Given the description of an element on the screen output the (x, y) to click on. 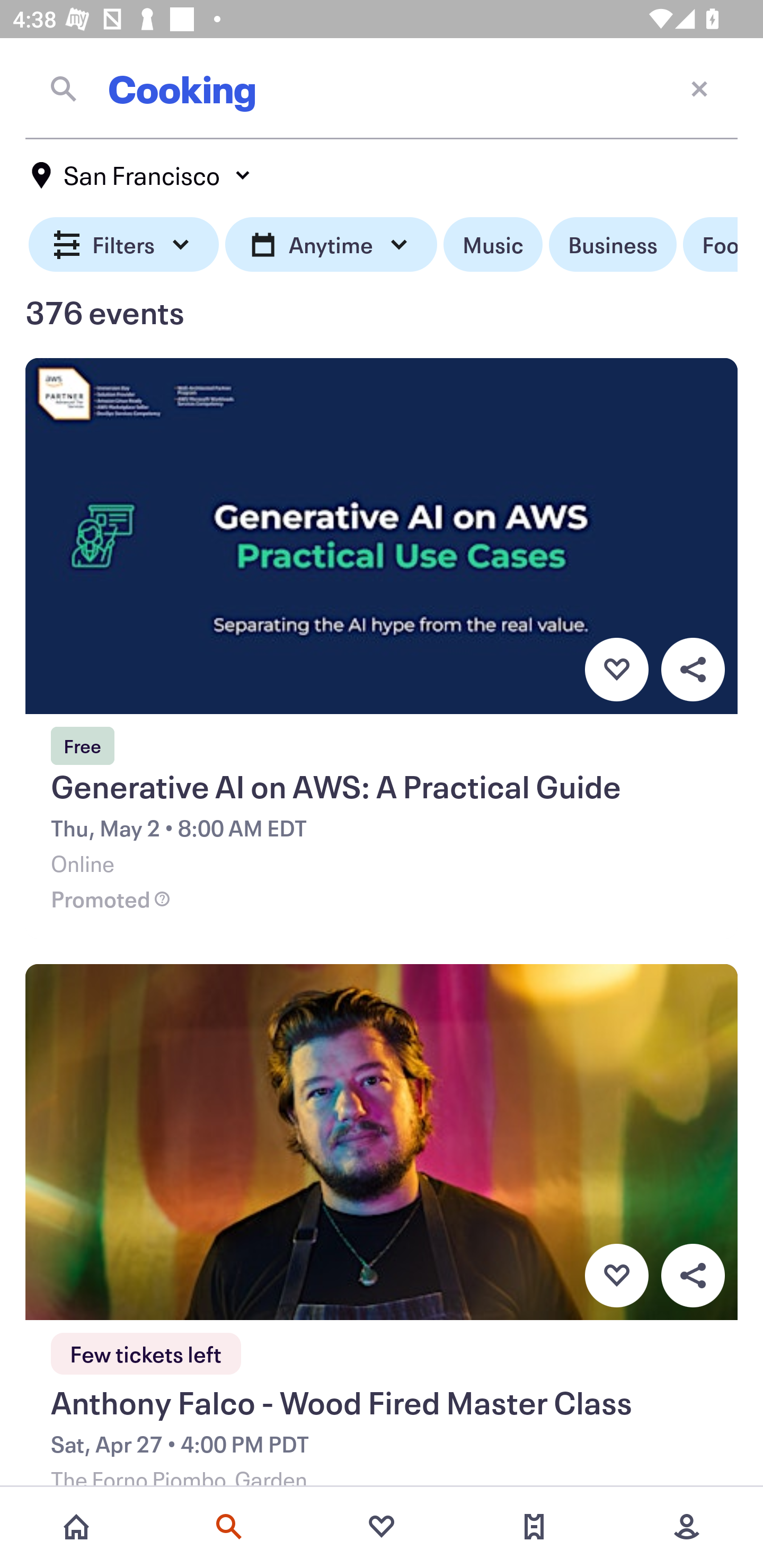
Cooking Close current screen (381, 88)
Close current screen (699, 88)
San Francisco (141, 175)
Filters (123, 244)
Anytime (331, 244)
Music (492, 244)
Business (612, 244)
Favorite button (616, 669)
Overflow menu button (692, 669)
Favorite button (616, 1275)
Overflow menu button (692, 1275)
Home (76, 1526)
Search events (228, 1526)
Favorites (381, 1526)
Tickets (533, 1526)
More (686, 1526)
